Given the description of an element on the screen output the (x, y) to click on. 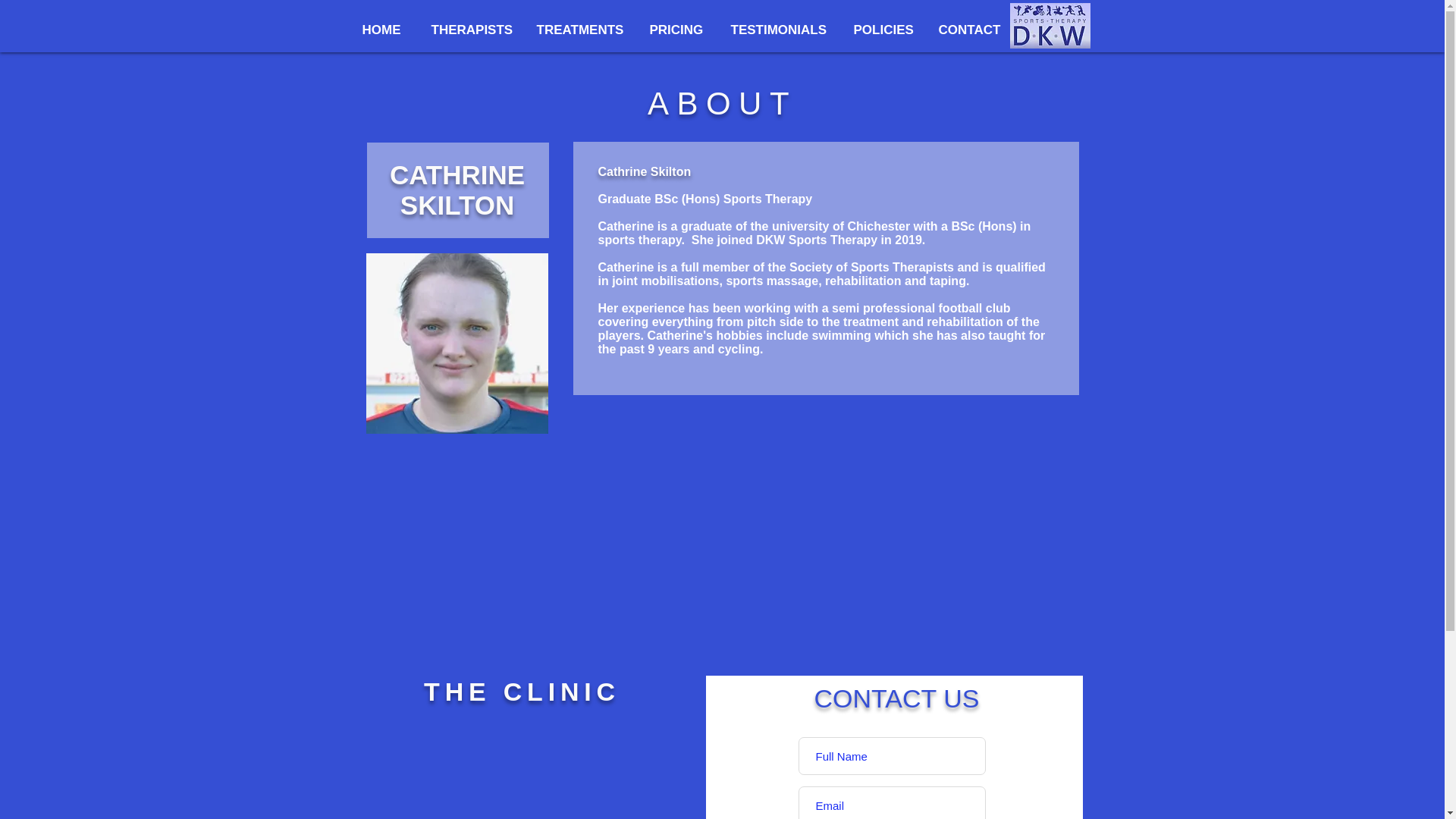
TREATMENTS (580, 30)
TESTIMONIALS (780, 30)
Google Maps (522, 769)
CONTACT (971, 30)
HOME (384, 30)
PRICING (679, 30)
